Given the description of an element on the screen output the (x, y) to click on. 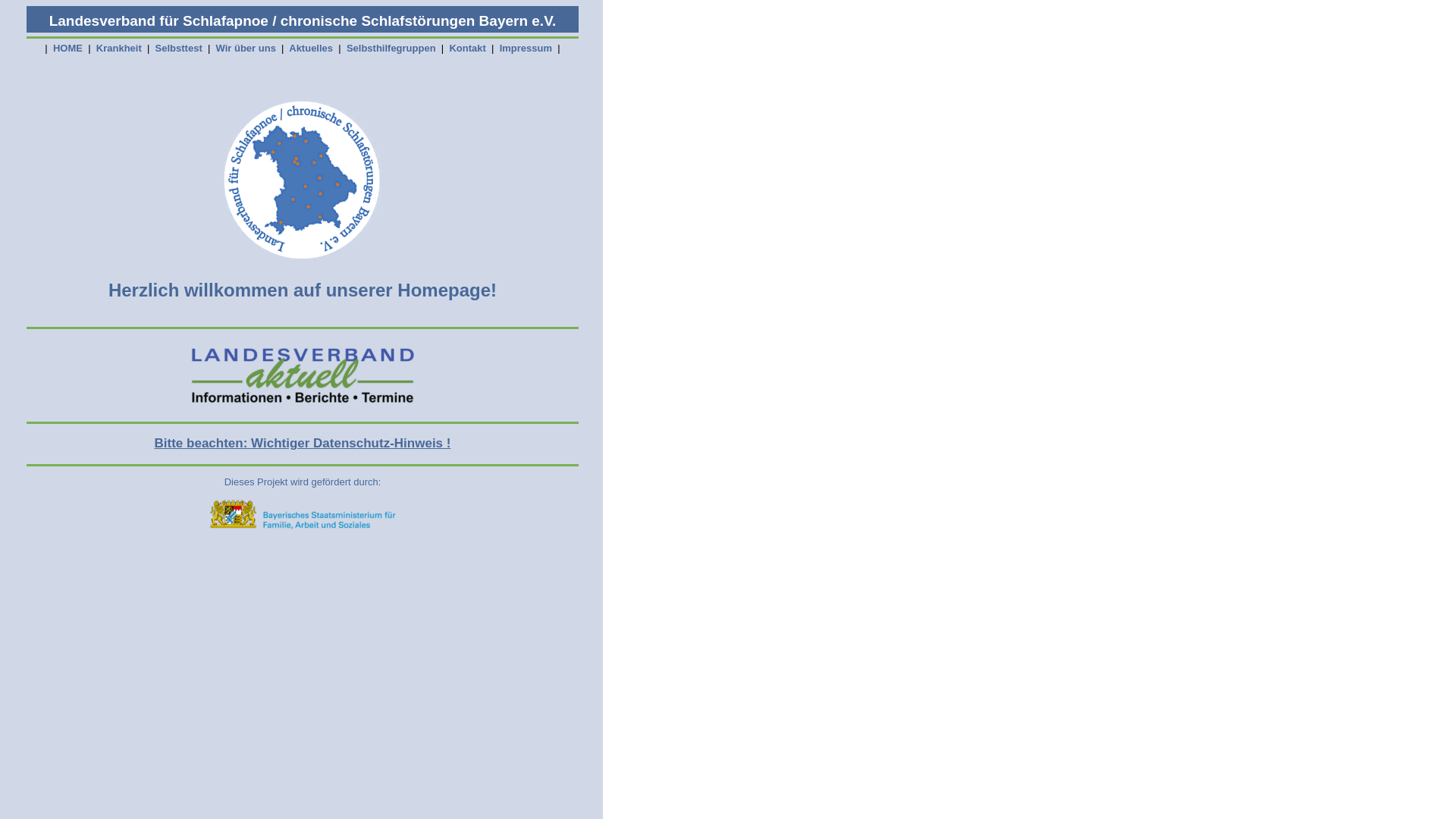
 Selbsthilfegruppen  Element type: text (390, 47)
 Aktuelles  Element type: text (310, 47)
 Impressum  Element type: text (525, 47)
 Krankheit  Element type: text (118, 47)
 Selbsttest  Element type: text (178, 47)
Bitte beachten: Wichtiger Datenschutz-Hinweis ! Element type: text (302, 443)
 HOME  Element type: text (67, 47)
 Kontakt  Element type: text (467, 47)
